Given the description of an element on the screen output the (x, y) to click on. 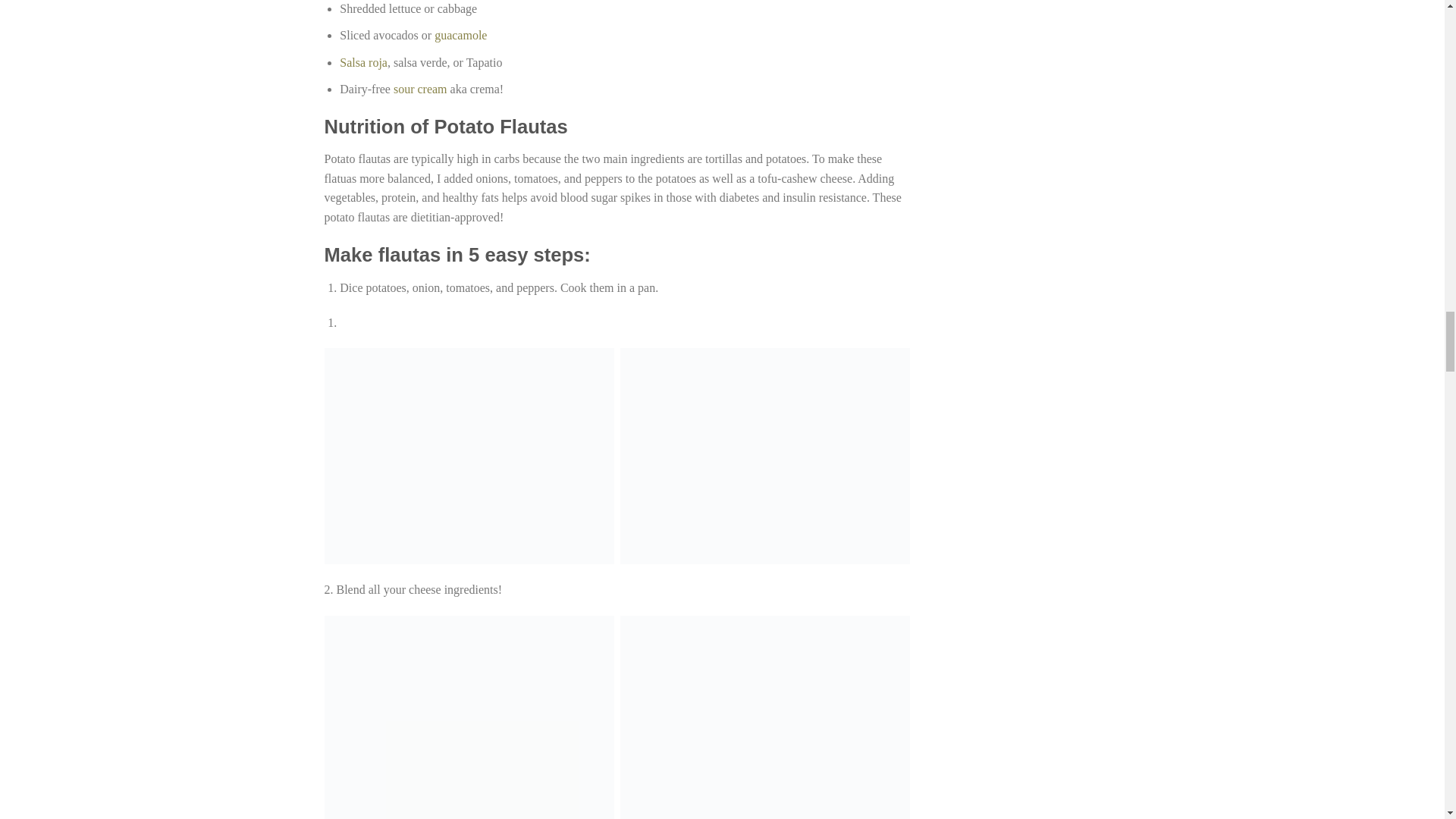
guacamole (459, 34)
sour cream (421, 88)
Salsa roja (363, 62)
